Given the description of an element on the screen output the (x, y) to click on. 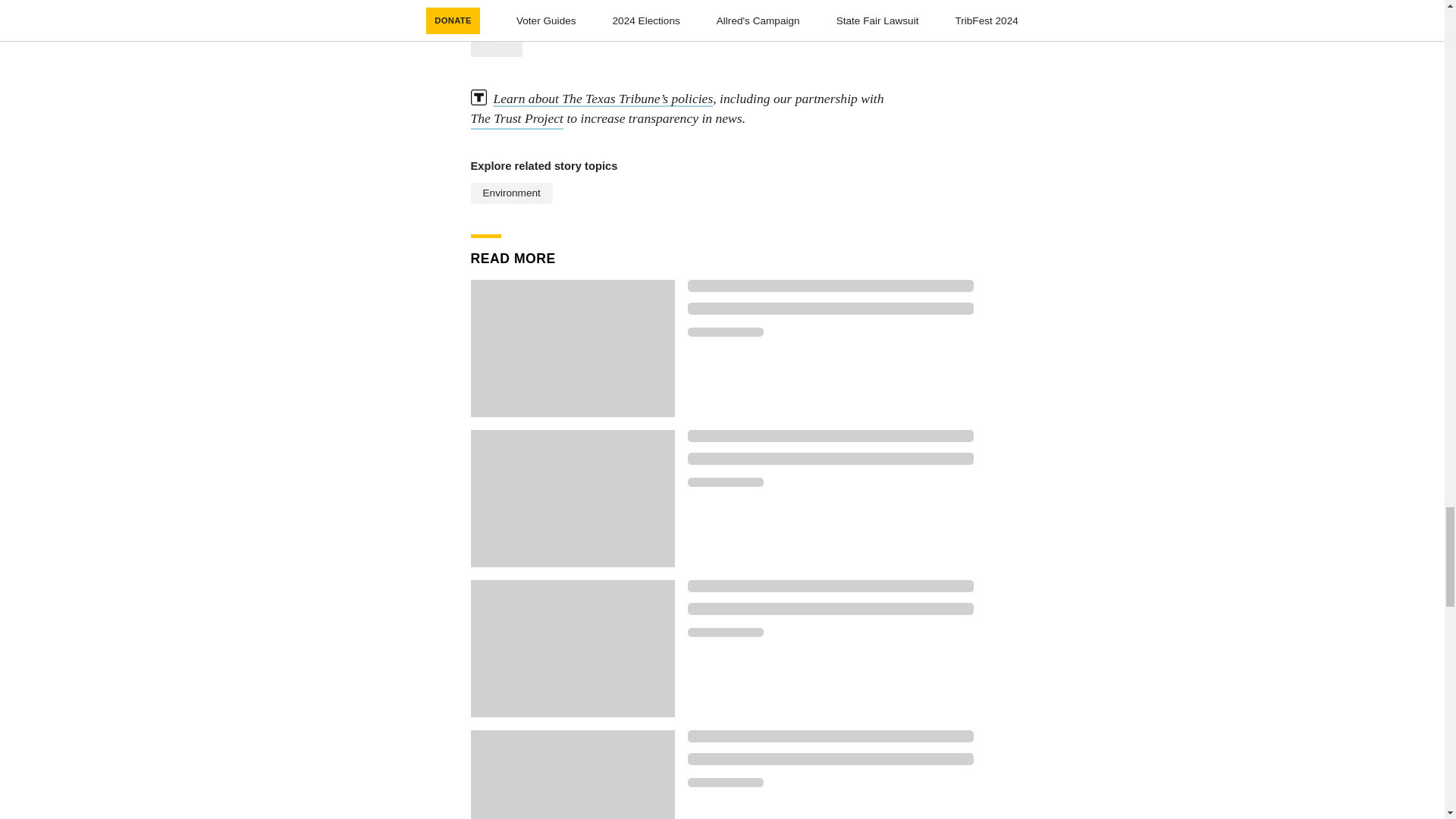
Loading indicator (830, 608)
Loading indicator (830, 585)
Loading indicator (830, 285)
Loading indicator (724, 481)
Loading indicator (830, 758)
Loading indicator (830, 458)
Loading indicator (830, 435)
Loading indicator (724, 632)
Loading indicator (724, 782)
Loading indicator (830, 736)
